Given the description of an element on the screen output the (x, y) to click on. 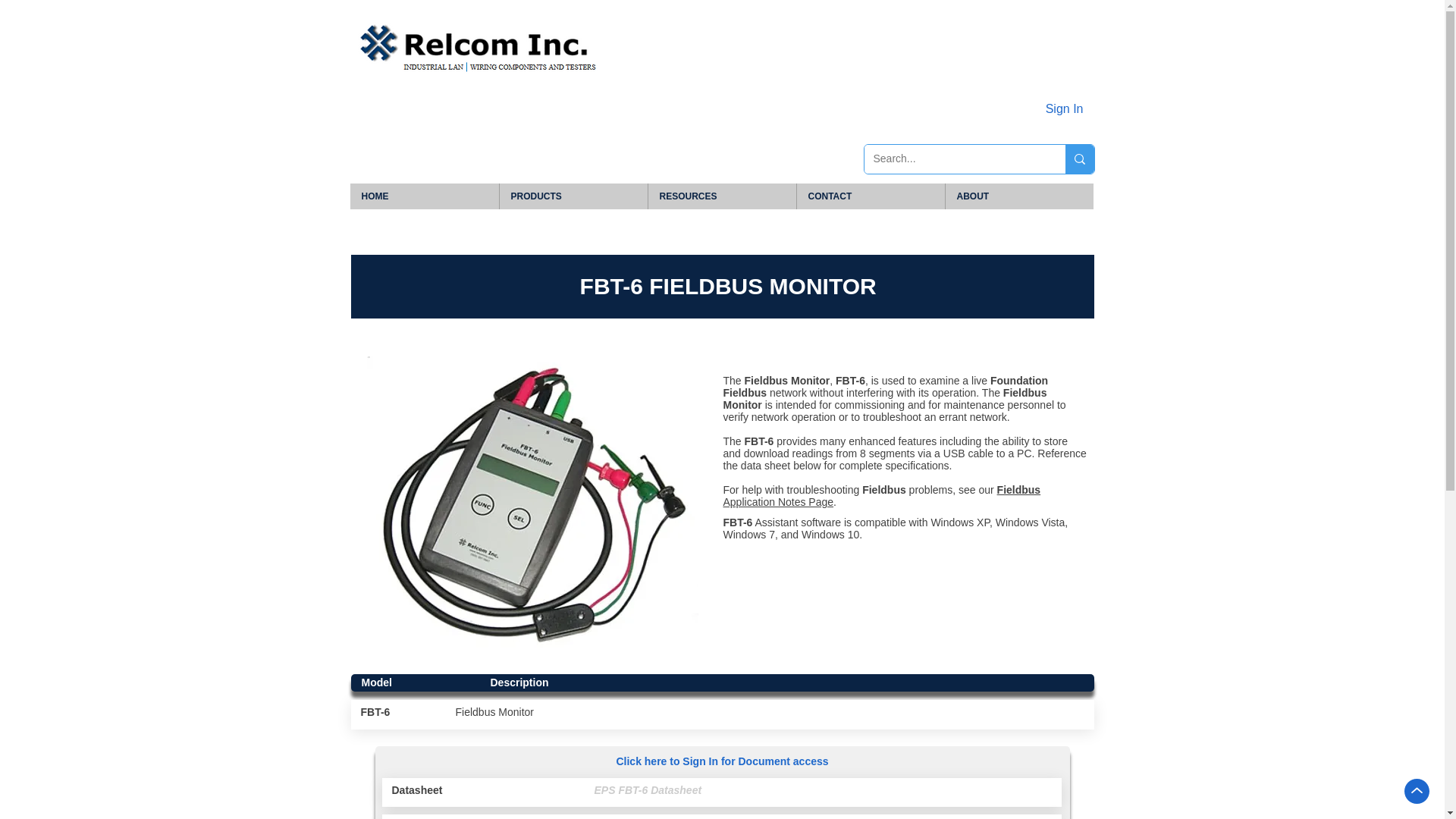
HOME (424, 196)
Fieldbus Application Notes Page (882, 495)
PRODUCTS (573, 196)
Sign In (1064, 109)
CONTACT (870, 196)
ABOUT (1018, 196)
RESOURCES (721, 196)
